Given the description of an element on the screen output the (x, y) to click on. 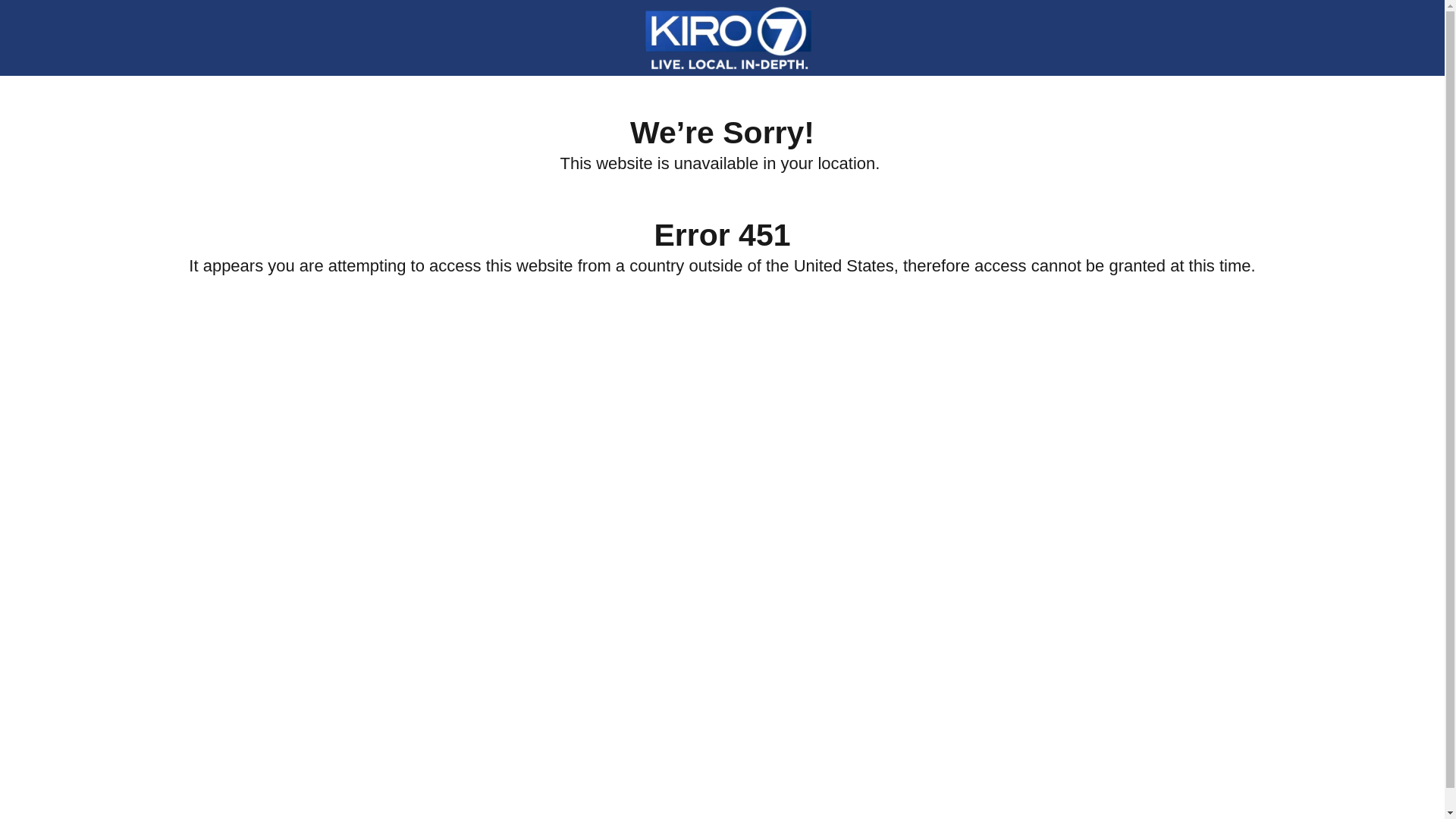
KIRO 7 News Seattle Logo (728, 37)
